Given the description of an element on the screen output the (x, y) to click on. 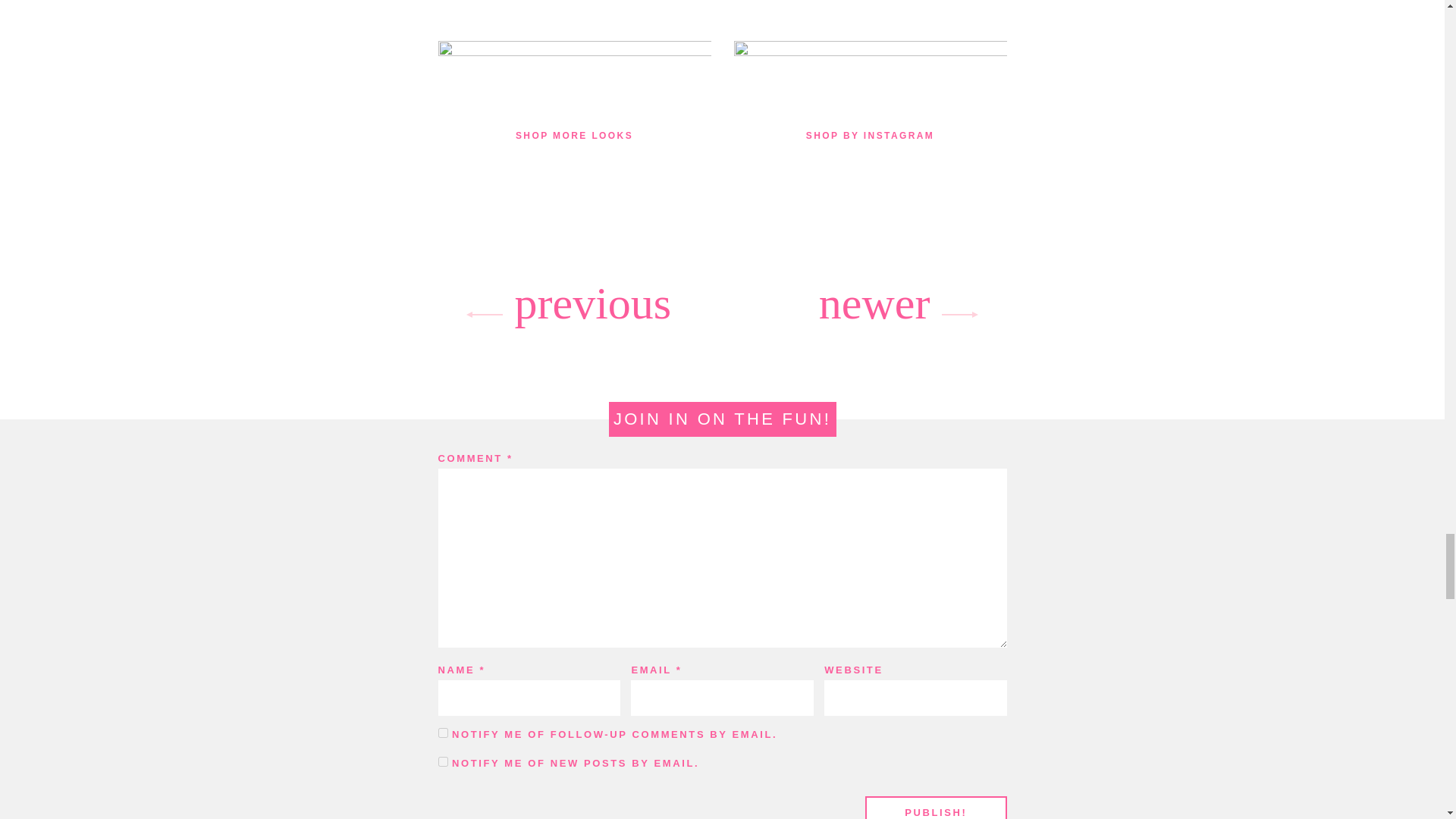
subscribe (443, 732)
subscribe (443, 761)
Publish! (935, 807)
